Given the description of an element on the screen output the (x, y) to click on. 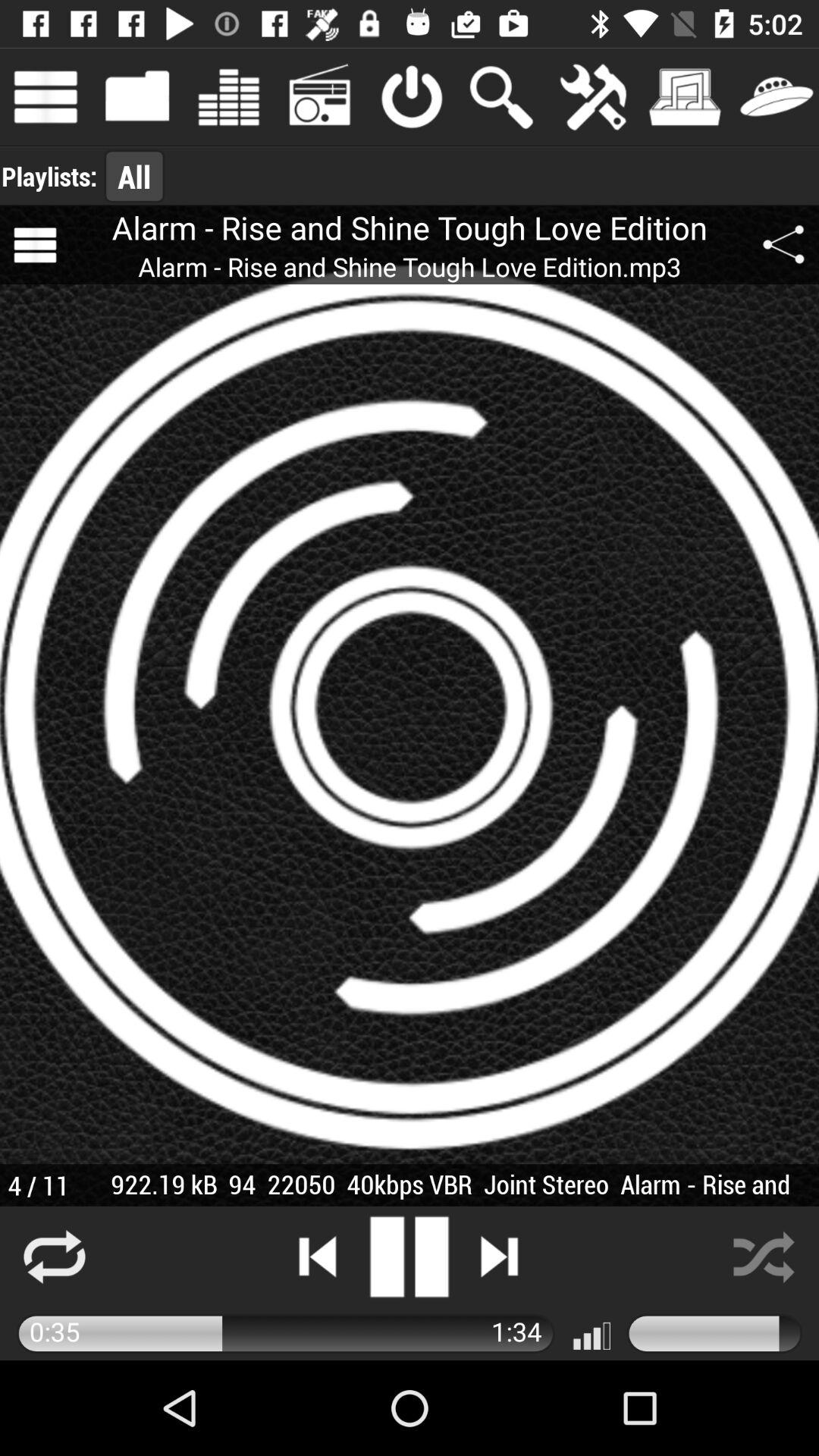
turn off the icon to the left of the alarm rise and icon (34, 244)
